Given the description of an element on the screen output the (x, y) to click on. 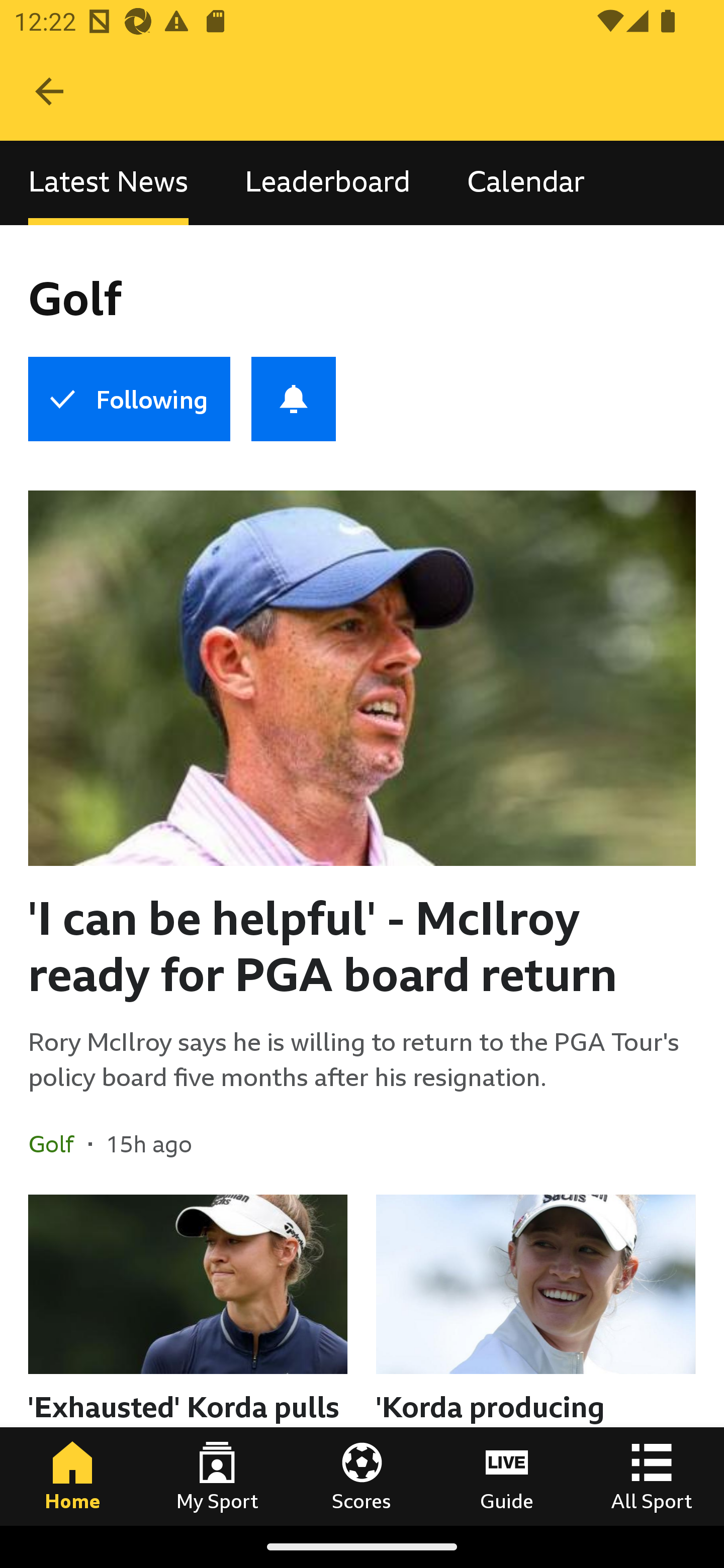
Navigate up (49, 91)
Latest News, selected Latest News (108, 183)
Leaderboard (327, 183)
Calendar (525, 183)
Following Golf Following (129, 398)
Push notifications for Golf (293, 398)
My Sport (216, 1475)
Scores (361, 1475)
Guide (506, 1475)
All Sport (651, 1475)
